Given the description of an element on the screen output the (x, y) to click on. 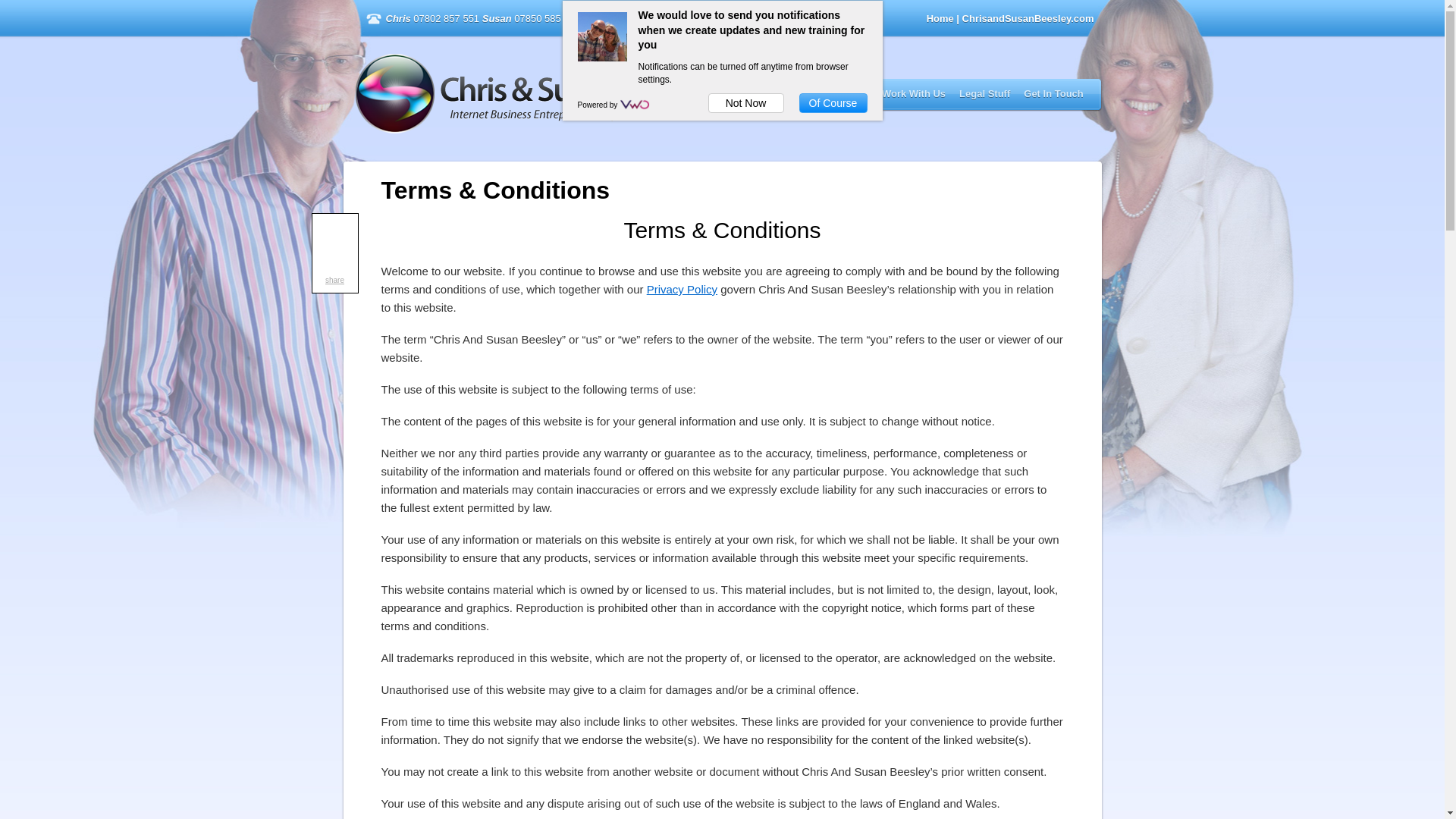
Privacy Policy (681, 288)
ChrisandSusanBeesley.com (550, 93)
Welcome to ChrisandSusanBeesley.com (550, 93)
Not Now (745, 103)
Legal Stuff (984, 93)
Home (939, 18)
Work With Us (914, 93)
share (333, 280)
Get In Touch (1053, 93)
Our Story (780, 93)
Of Course (833, 103)
Resources (841, 93)
Powered by (599, 104)
